Given the description of an element on the screen output the (x, y) to click on. 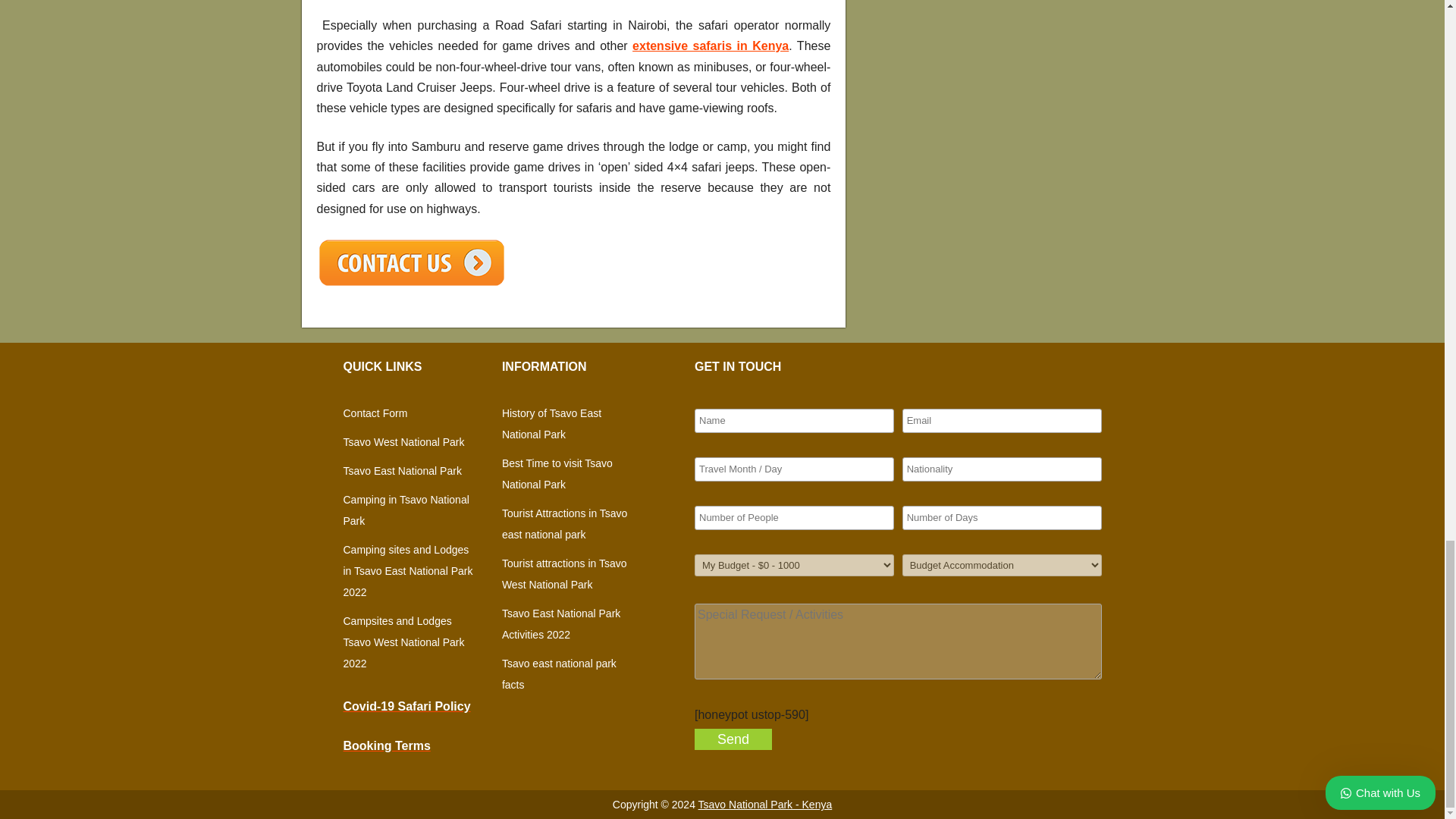
extensive safaris in Kenya (710, 45)
Send (732, 739)
Contact Form (374, 413)
Tsavo East National Park (401, 470)
Camping in Tsavo National Park (405, 510)
Tsavo West National Park (403, 441)
